Given the description of an element on the screen output the (x, y) to click on. 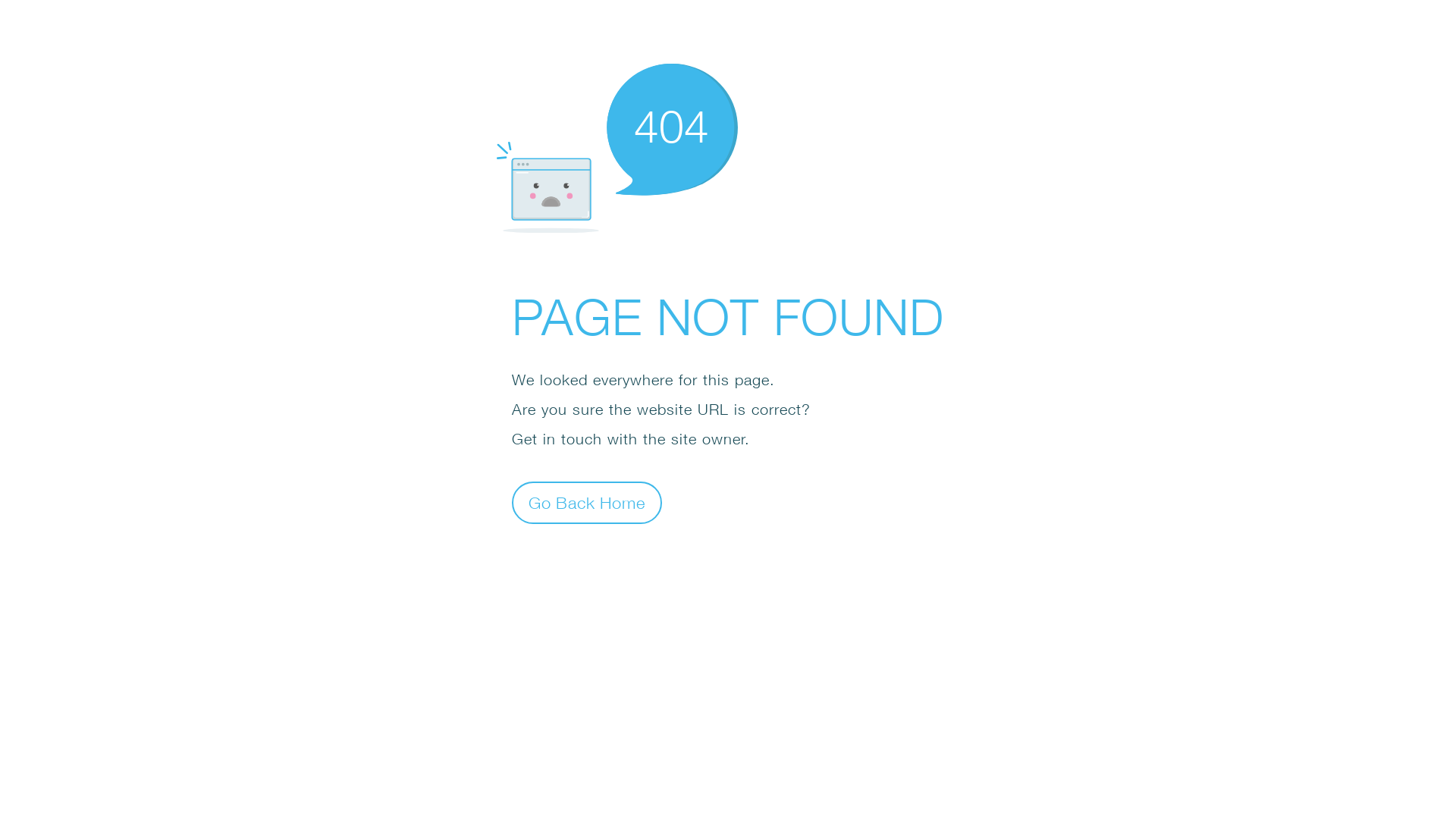
Go Back Home Element type: text (586, 502)
